Given the description of an element on the screen output the (x, y) to click on. 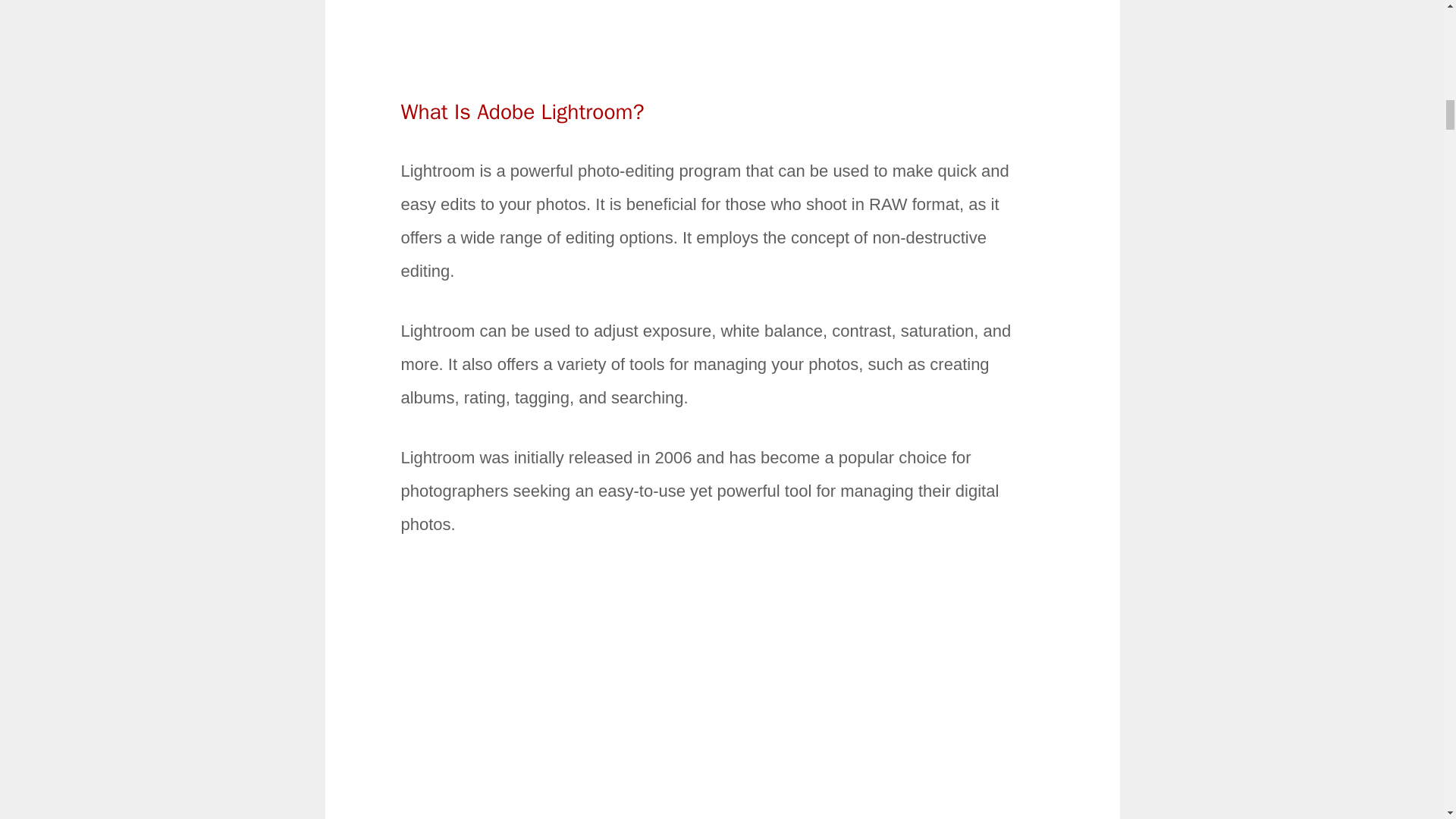
What Is Adobe Lightroom? (521, 111)
